Given the description of an element on the screen output the (x, y) to click on. 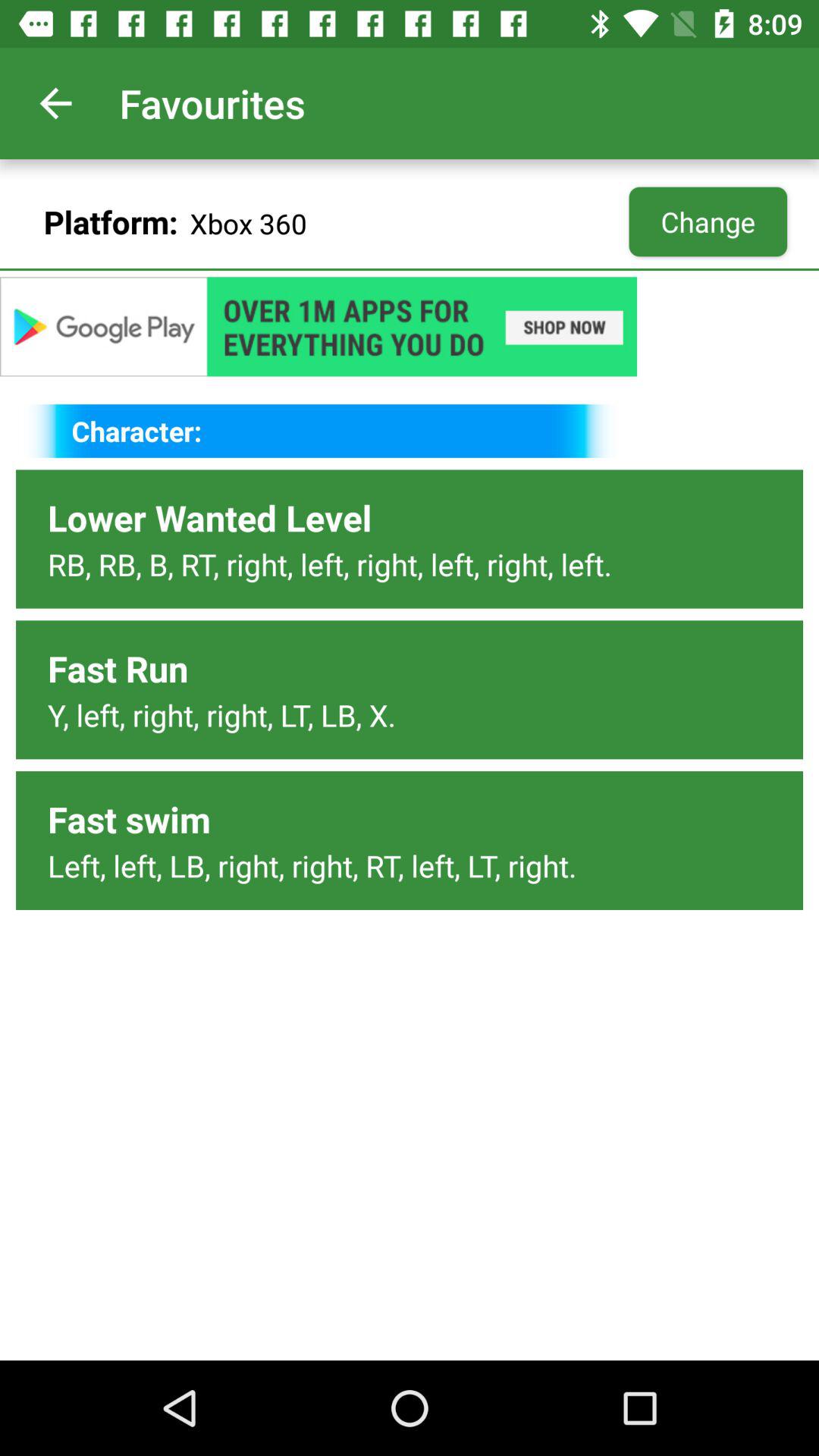
select the add link (409, 326)
